Given the description of an element on the screen output the (x, y) to click on. 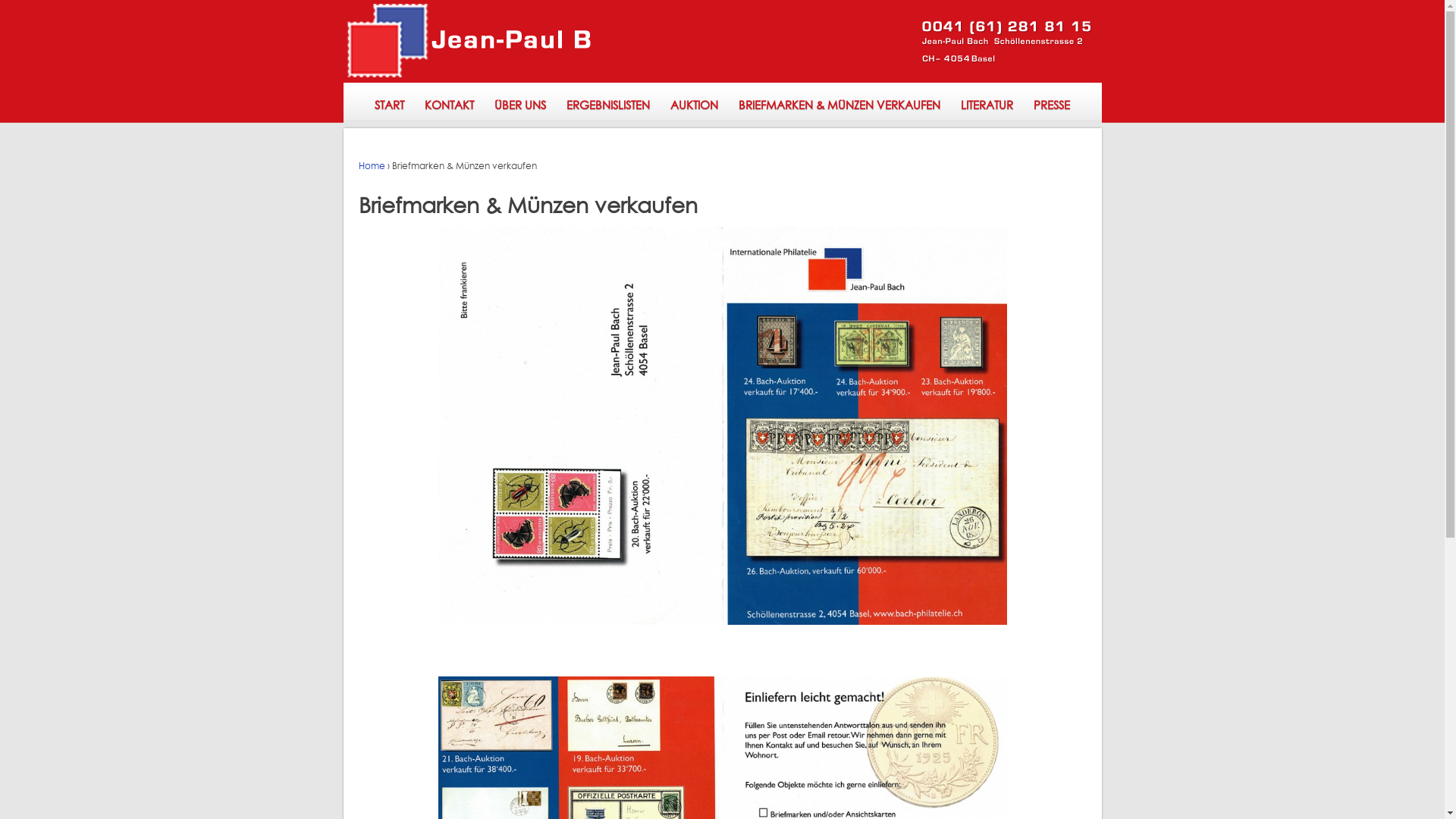
LITERATUR Element type: text (986, 104)
Home Element type: text (370, 165)
AUKTION Element type: text (693, 104)
PRESSE Element type: text (1051, 104)
ERGEBNISLISTEN Element type: text (608, 104)
START Element type: text (389, 104)
KONTAKT Element type: text (448, 104)
